Given the description of an element on the screen output the (x, y) to click on. 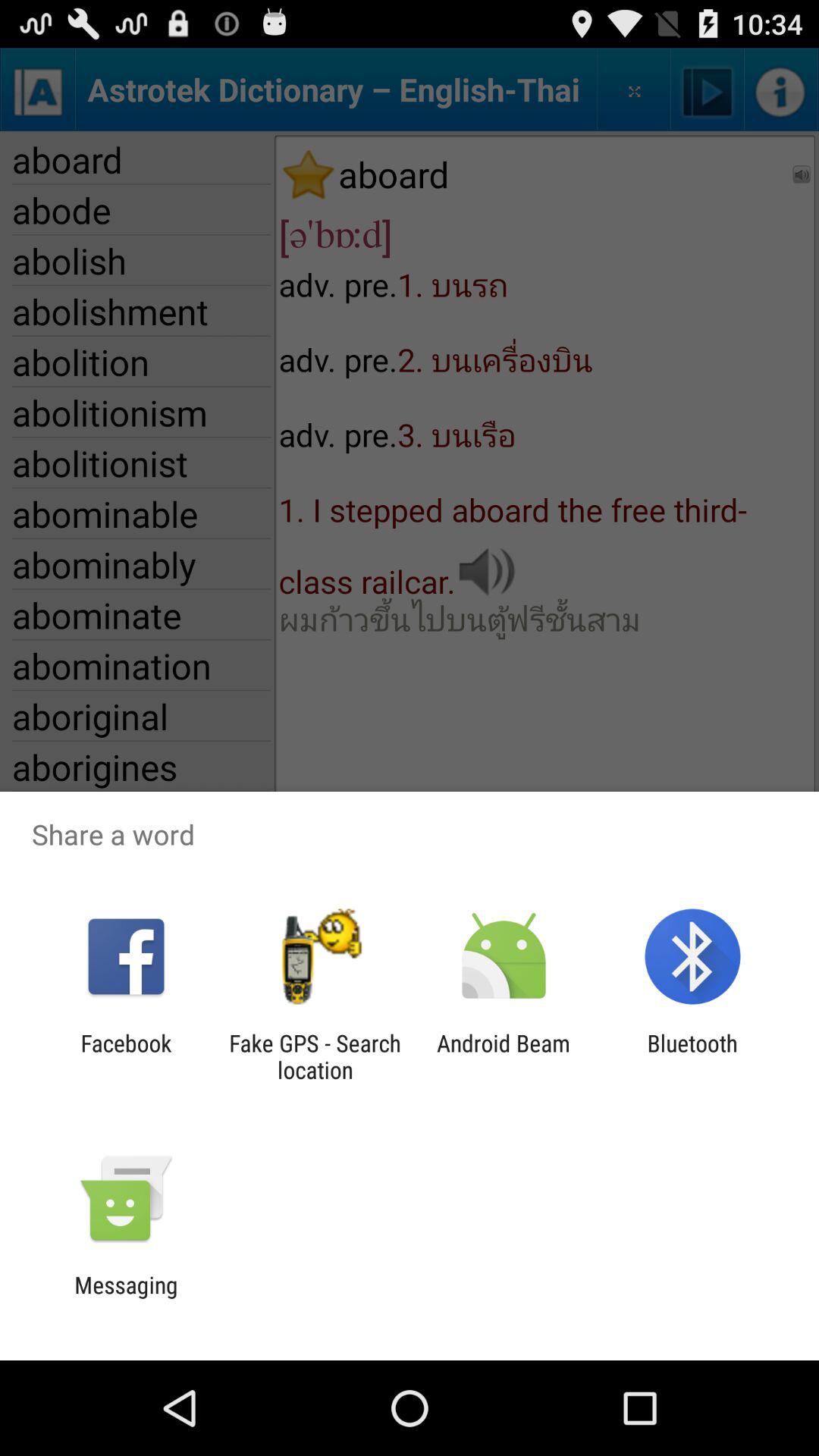
click the app to the right of the fake gps search app (503, 1056)
